Given the description of an element on the screen output the (x, y) to click on. 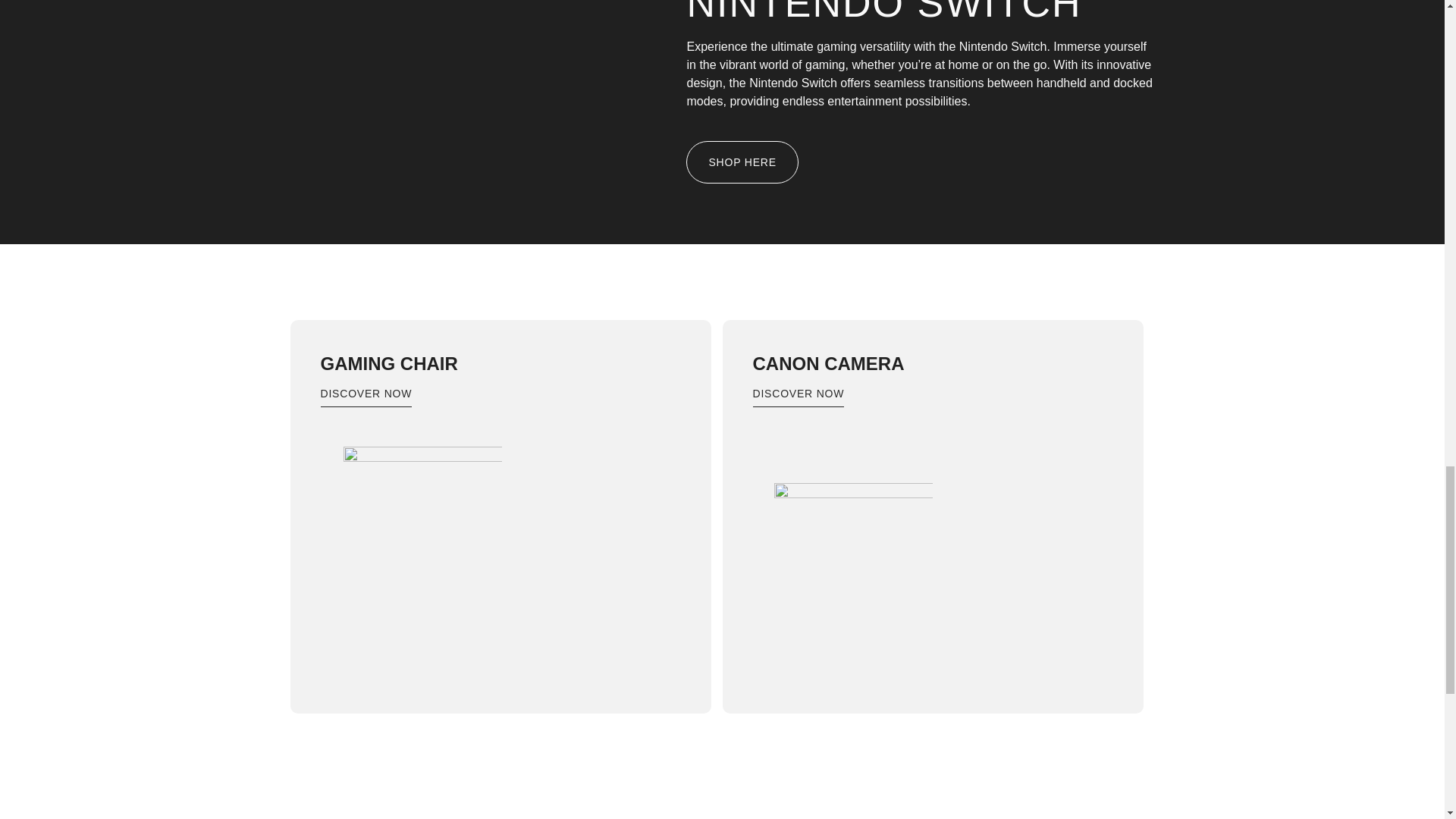
SHOP HERE (741, 161)
DISCOVER NOW (366, 397)
DISCOVER NOW (798, 397)
